Given the description of an element on the screen output the (x, y) to click on. 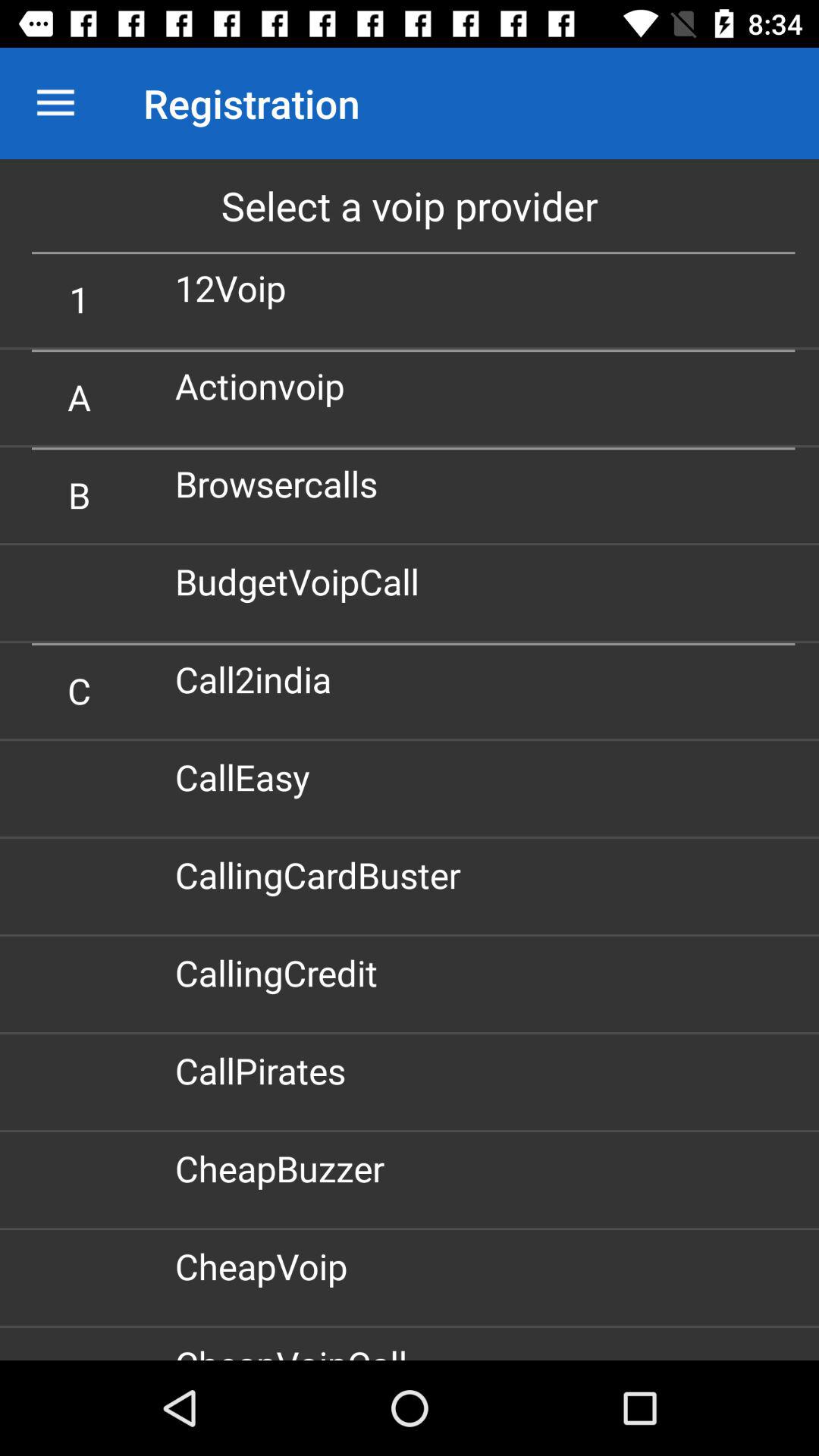
select the c (79, 690)
